Given the description of an element on the screen output the (x, y) to click on. 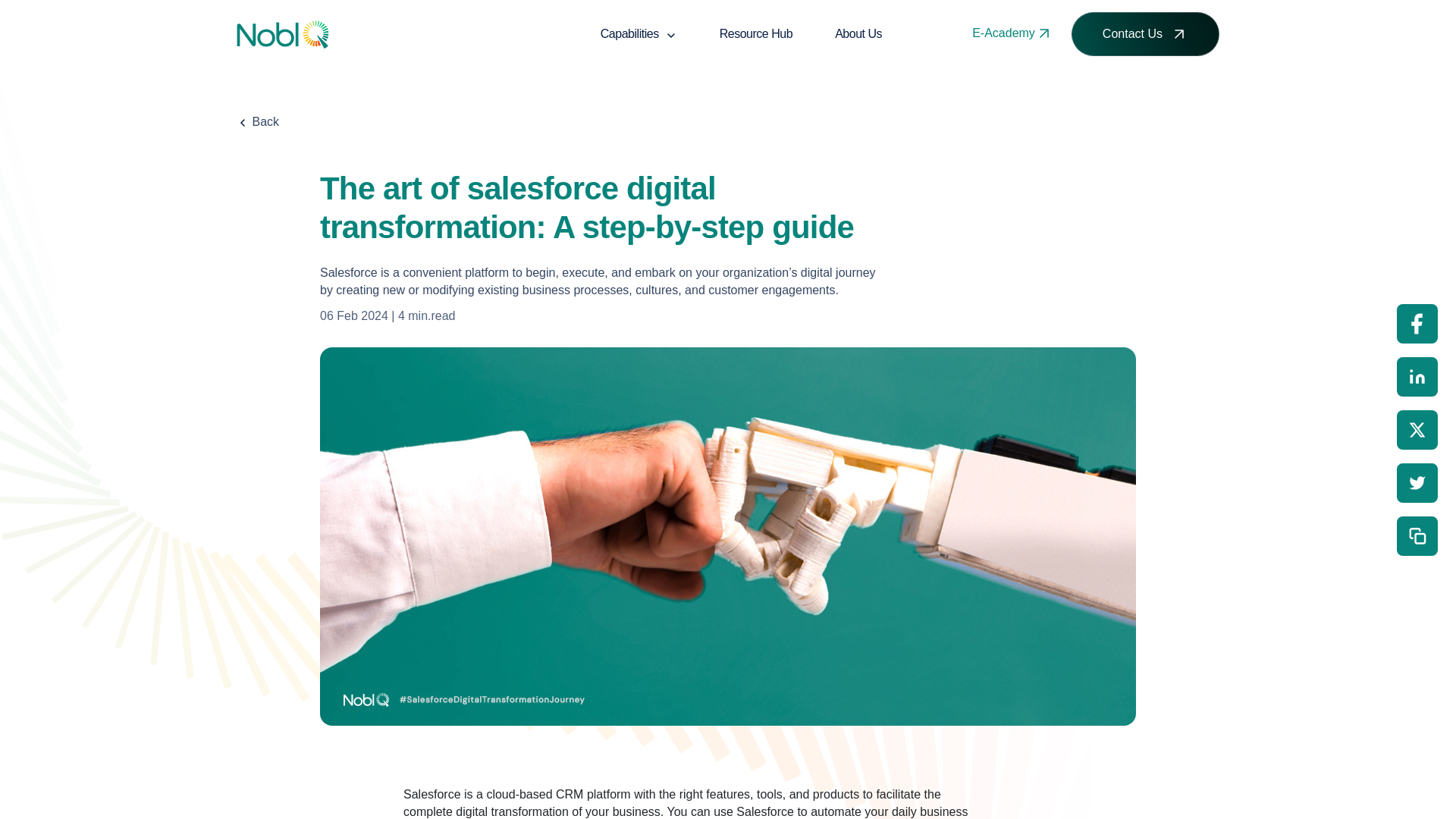
E-Academy (1012, 33)
Back (257, 121)
Capabilities (638, 33)
Resource Hub (756, 33)
About Us (858, 33)
Contact Us (1145, 34)
